Given the description of an element on the screen output the (x, y) to click on. 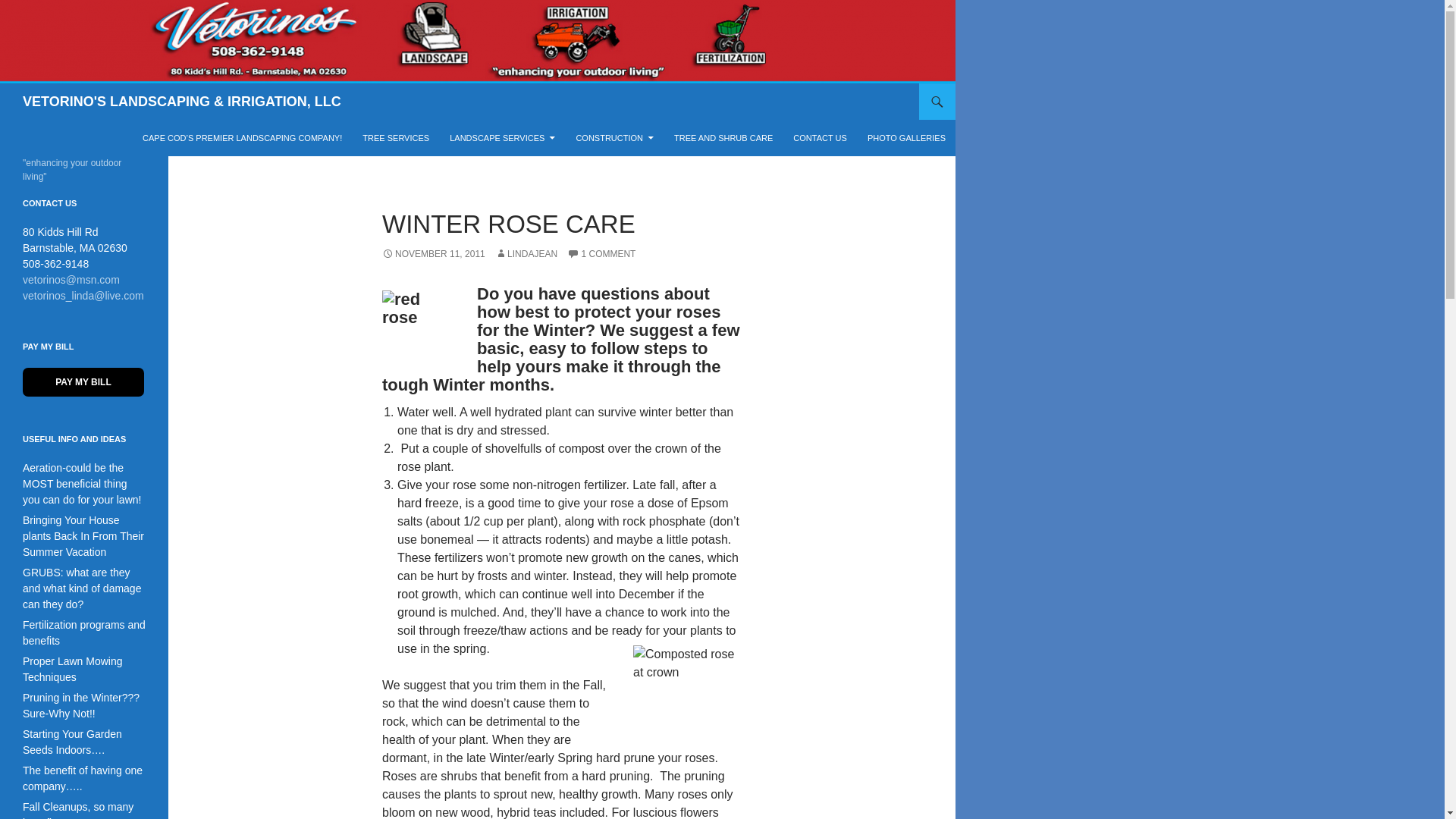
CONSTRUCTION (614, 137)
PHOTO GALLERIES (907, 137)
LANDSCAPE SERVICES (502, 137)
508-362-9148 (55, 263)
1 COMMENT (600, 253)
Composted rose at crown (687, 686)
TREE SERVICES (395, 137)
CONTACT US (820, 137)
rose (75, 239)
NOVEMBER 11, 2011 (419, 323)
LINDAJEAN (432, 253)
